Given the description of an element on the screen output the (x, y) to click on. 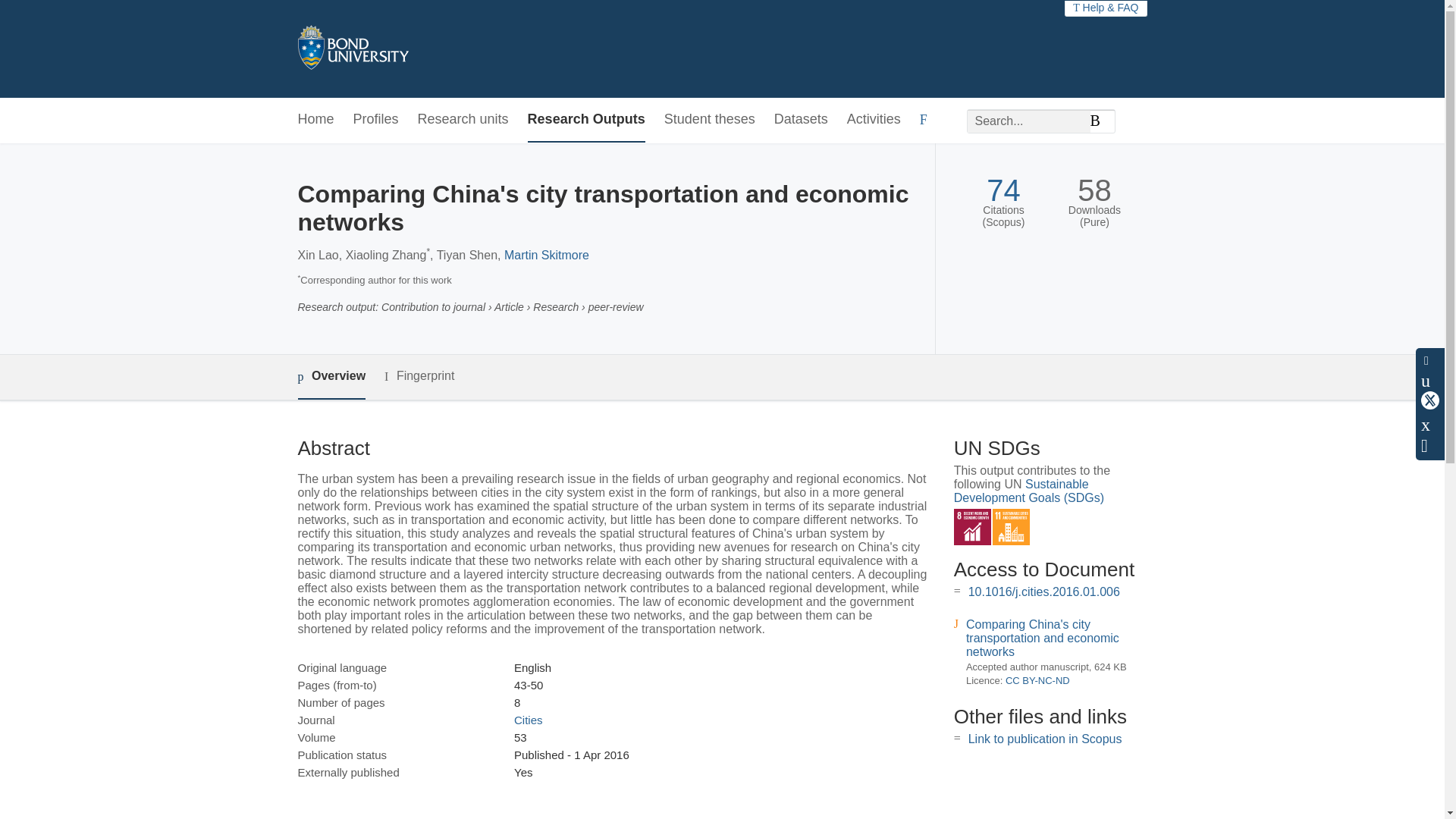
Activities (874, 119)
Student theses (709, 119)
Fingerprint (419, 376)
Profiles (375, 119)
Cities (528, 719)
Overview (331, 376)
Link to publication in Scopus (1045, 738)
Research units (462, 119)
Martin Skitmore (546, 254)
SDG 8 - Decent Work and Economic Growth (972, 527)
SDG 11 - Sustainable Cities and Communities (1010, 527)
Bond University Research Portal Home (352, 48)
Datasets (801, 119)
Comparing China's city transportation and economic networks (1042, 638)
